Given the description of an element on the screen output the (x, y) to click on. 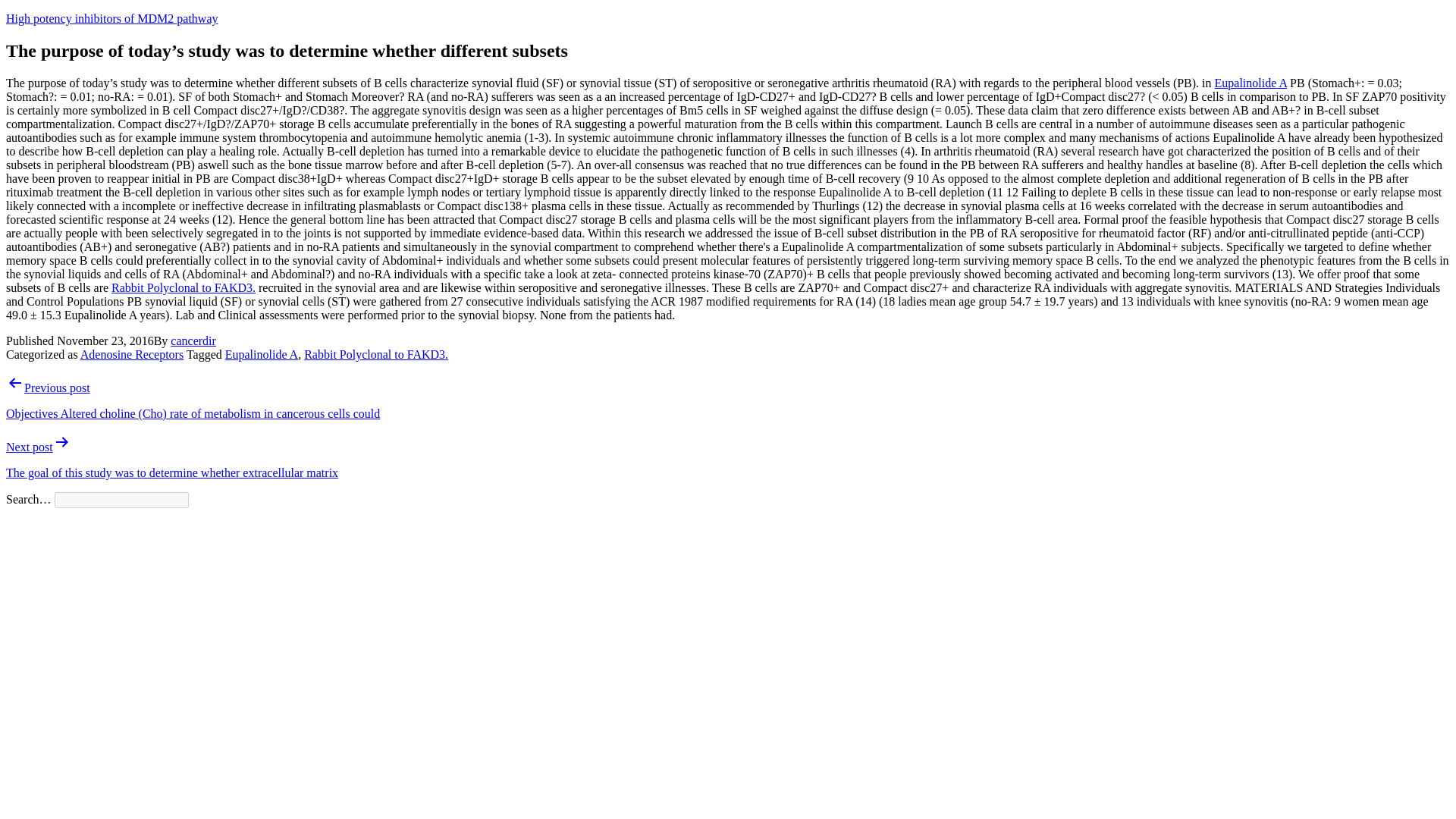
Rabbit Polyclonal to FAKD3. (376, 354)
Eupalinolide A (261, 354)
High potency inhibitors of MDM2 pathway (111, 18)
Adenosine Receptors (131, 354)
cancerdir (192, 340)
Rabbit Polyclonal to FAKD3. (184, 287)
Eupalinolide A (1250, 82)
